Given the description of an element on the screen output the (x, y) to click on. 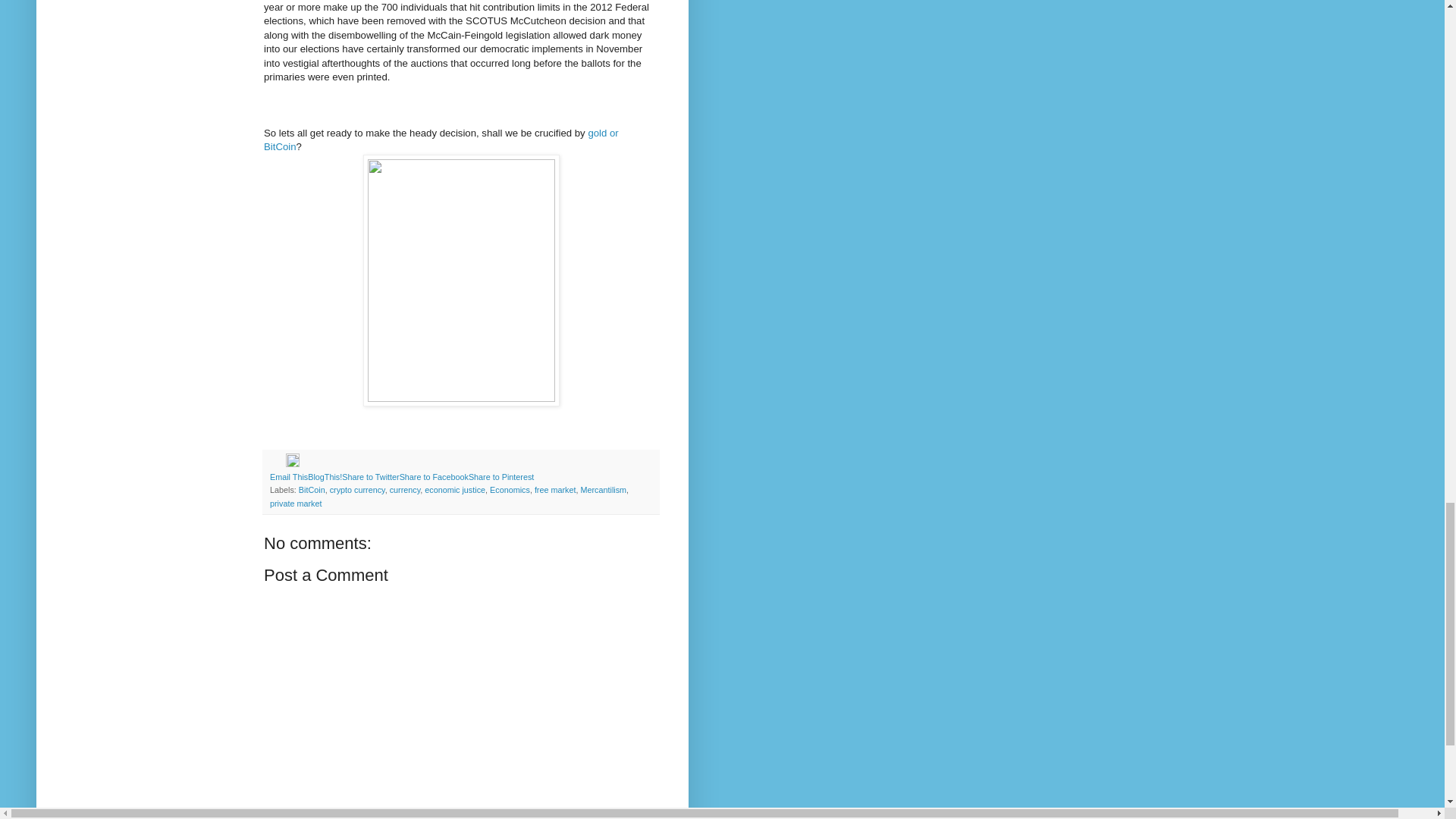
Mercantilism (602, 489)
free market (555, 489)
Share to Pinterest (501, 476)
economic justice (454, 489)
gold or BitCoin (440, 139)
Share to Twitter (370, 476)
Edit Post (292, 463)
Share to Facebook (433, 476)
Email Post (277, 463)
BitCoin (311, 489)
Email This (288, 476)
Share to Facebook (433, 476)
BlogThis! (324, 476)
Email This (288, 476)
BlogThis! (324, 476)
